Given the description of an element on the screen output the (x, y) to click on. 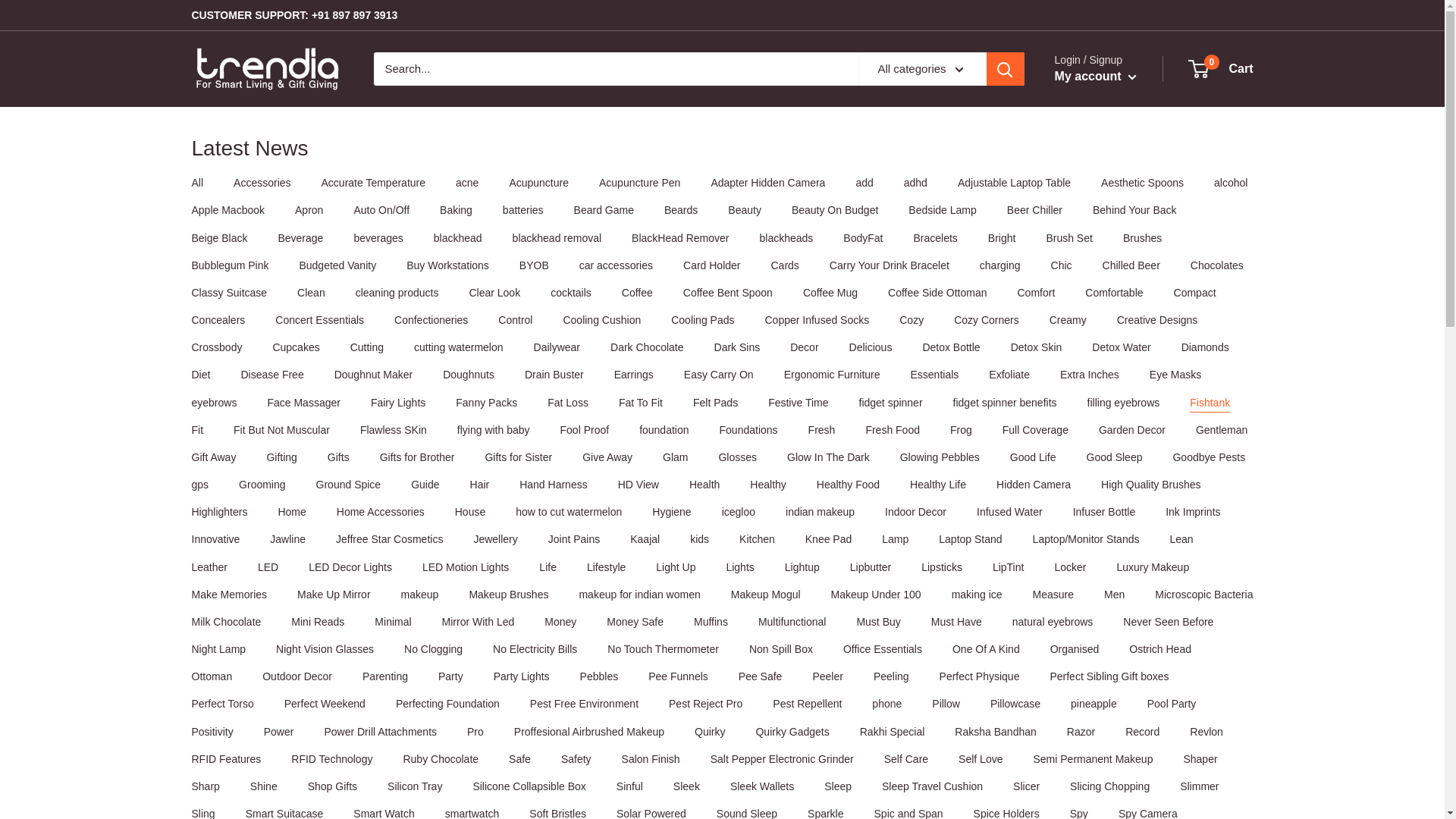
adhd (915, 182)
Show articles tagged Baking (455, 209)
alcohol (1230, 182)
Baking (455, 209)
acne (467, 182)
Bedside Lamp (942, 209)
Show articles tagged Adapter Hidden Camera (767, 182)
Beauty (744, 209)
batteries (522, 209)
Beard Game (603, 209)
Show articles tagged Apron (309, 209)
Show articles tagged Beard Game (603, 209)
Show articles tagged Accurate Temperature (373, 182)
add (864, 182)
Beauty On Budget (834, 209)
